Given the description of an element on the screen output the (x, y) to click on. 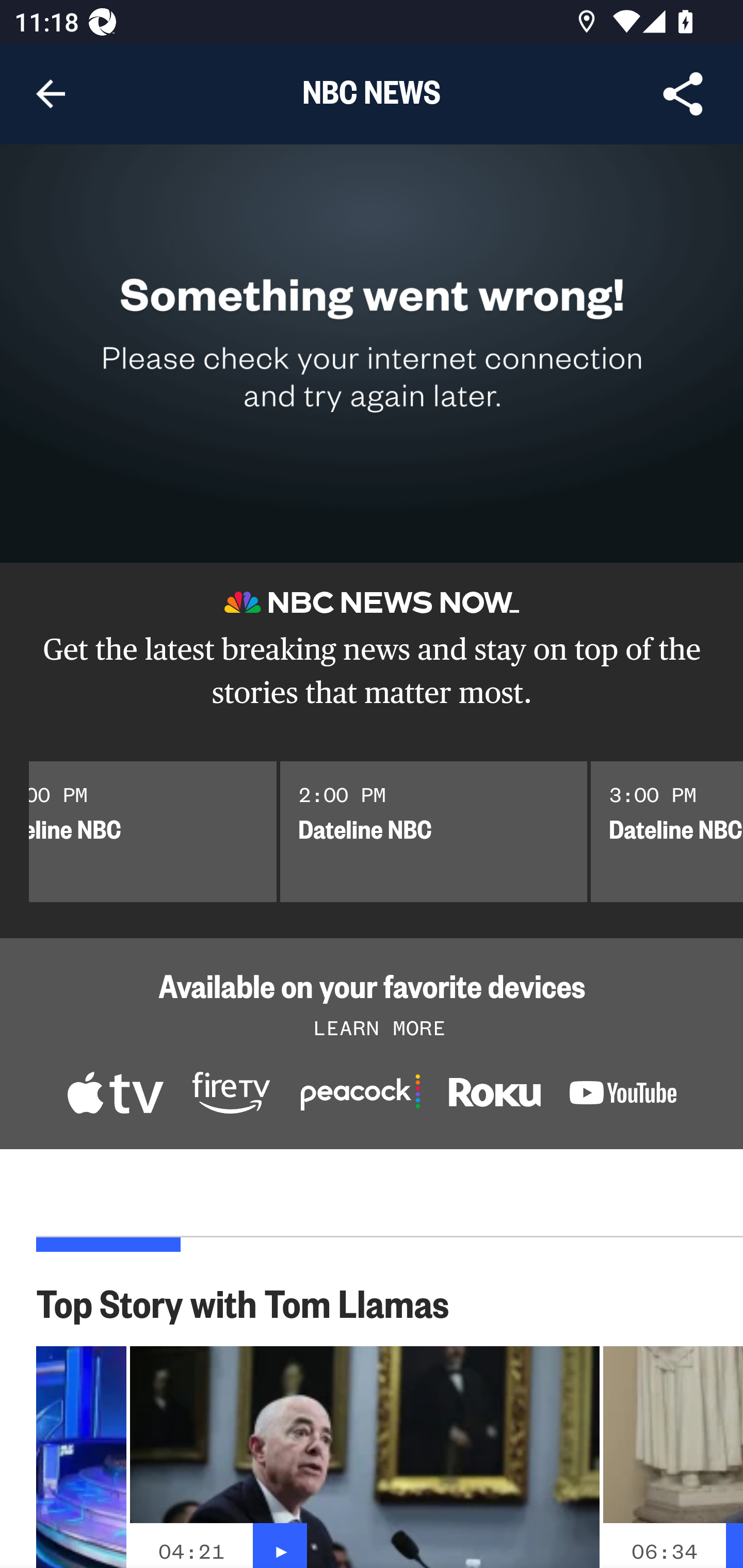
Navigate up (50, 93)
Share Article, button (683, 94)
1260802722430-NBC-News-Now (115, 1095)
B0055DL1G4 (231, 1095)
nbc-news (494, 1096)
nbcnews (622, 1095)
Top Story with Tom Llamas (253, 1301)
04:21  04:21 04:21 04:21  (364, 1456)
04:21 (190, 1551)
06:34 (664, 1551)
